Given the description of an element on the screen output the (x, y) to click on. 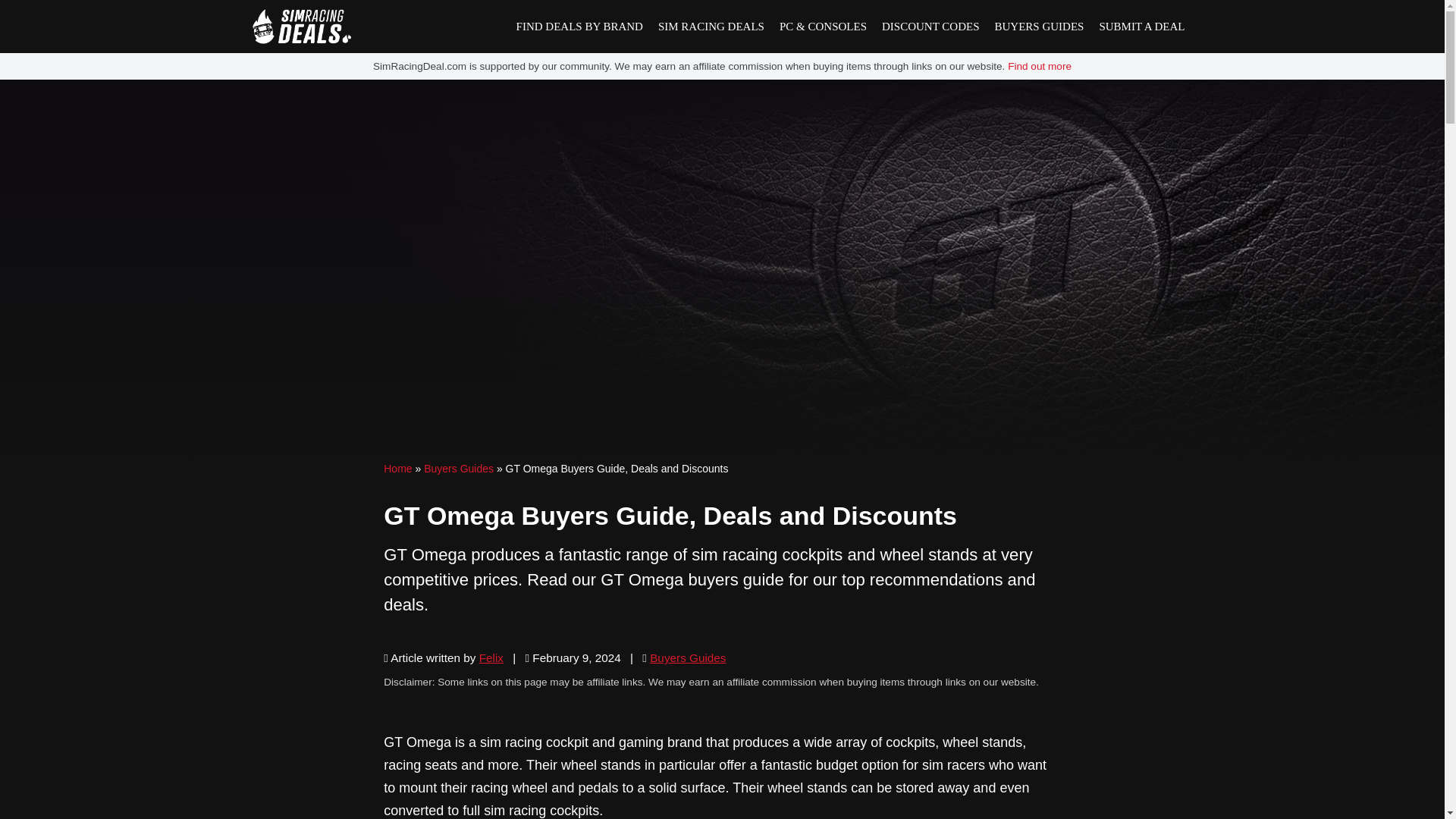
Skip to content (11, 31)
FIND DEALS BY BRAND (579, 26)
DISCOUNT CODES (931, 26)
Posts written by Felix (491, 657)
BUYERS GUIDES (1038, 26)
SIM RACING DEALS (710, 26)
SUBMIT A DEAL (1141, 26)
